Given the description of an element on the screen output the (x, y) to click on. 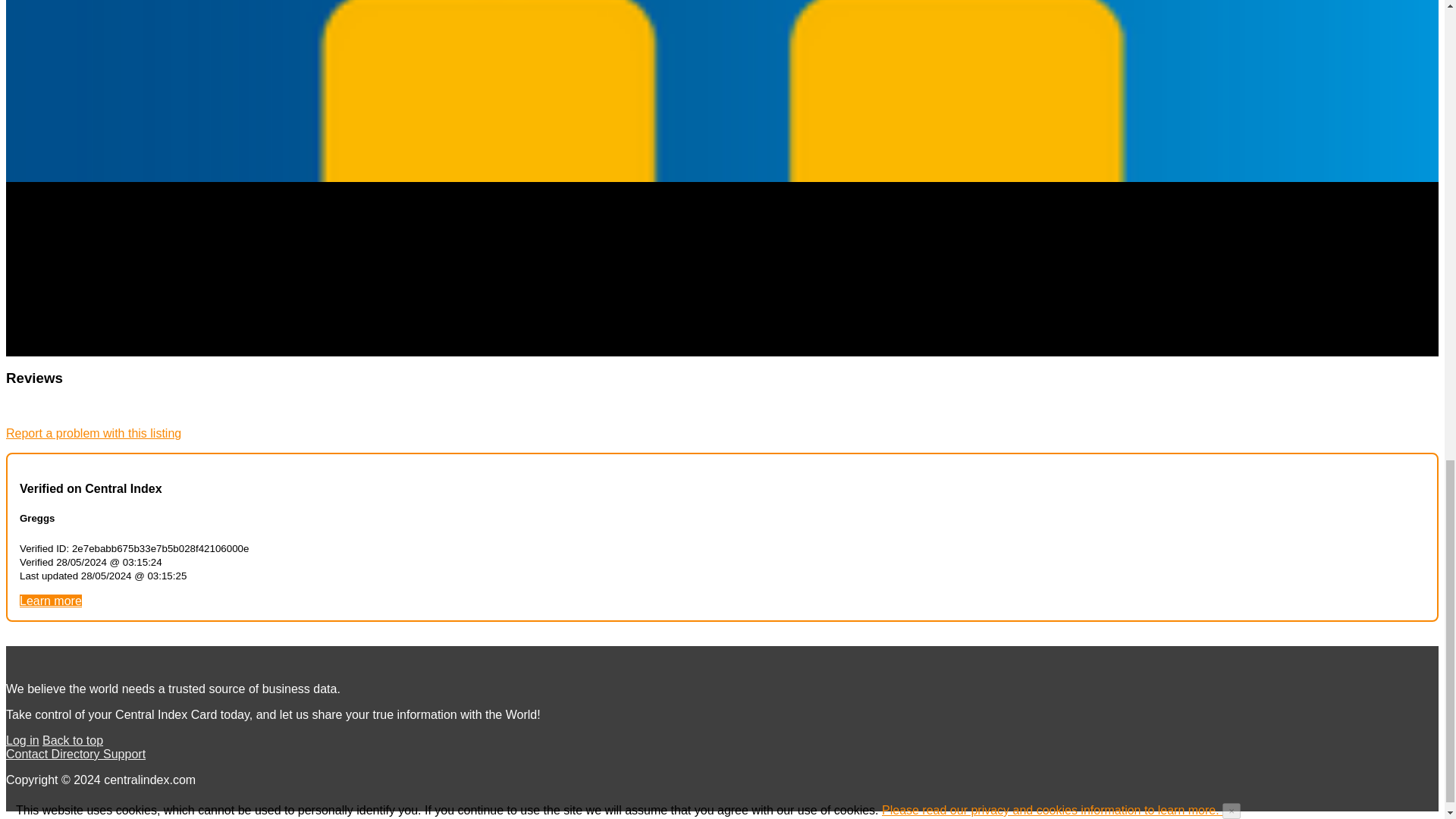
Learn more (50, 600)
Log in (22, 739)
Opens in a new window (50, 600)
Report a problem with this listing (92, 432)
Leave a review (46, 407)
Back to top (72, 739)
Contact Directory Support (75, 753)
